Given the description of an element on the screen output the (x, y) to click on. 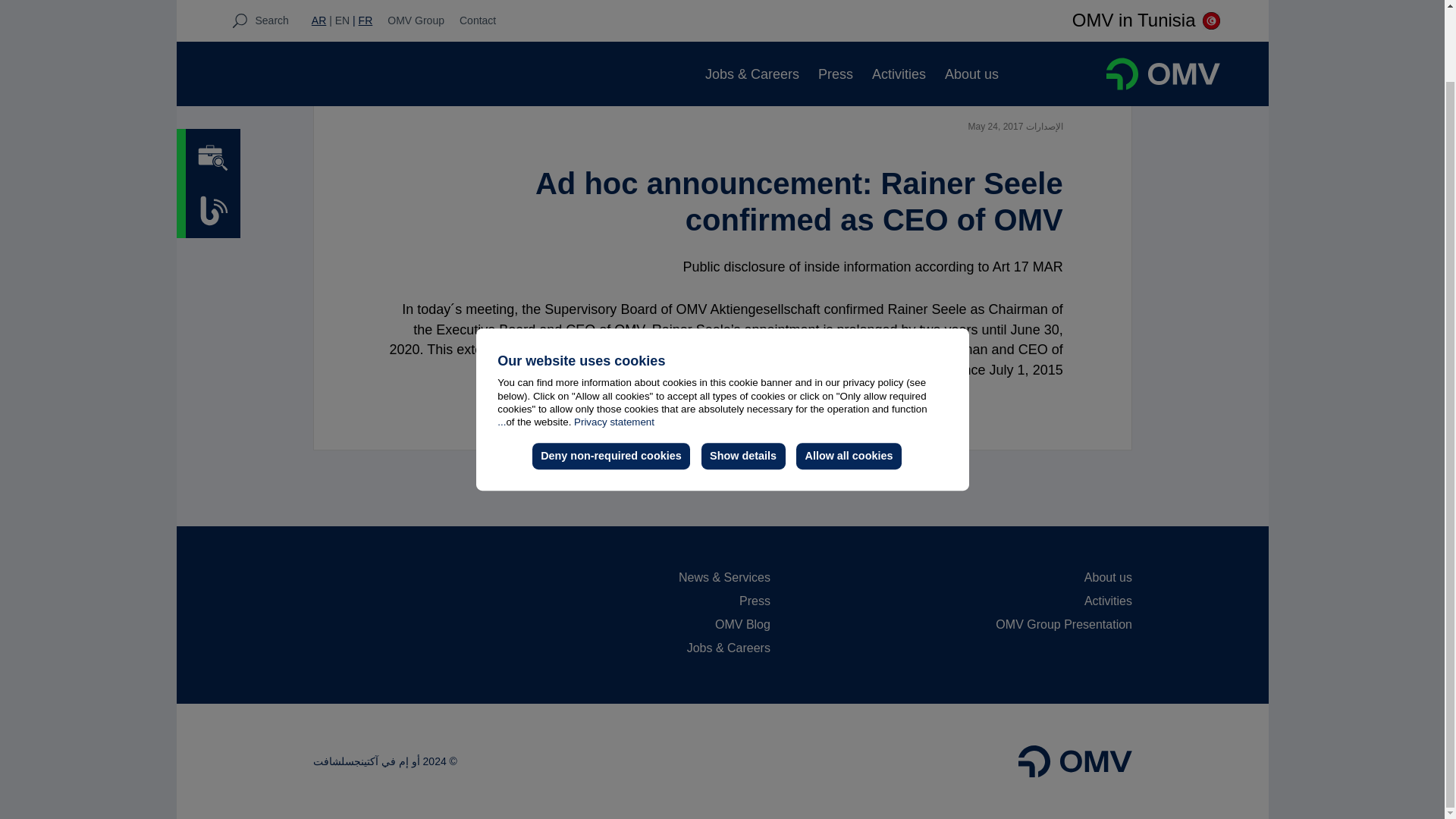
Privacy statement... (575, 342)
Allow all cookies (848, 376)
Deny non-required cookies (611, 376)
Press (835, 2)
About us (971, 2)
Activities (899, 2)
Show details (743, 376)
Privacy statement... (575, 342)
